Given the description of an element on the screen output the (x, y) to click on. 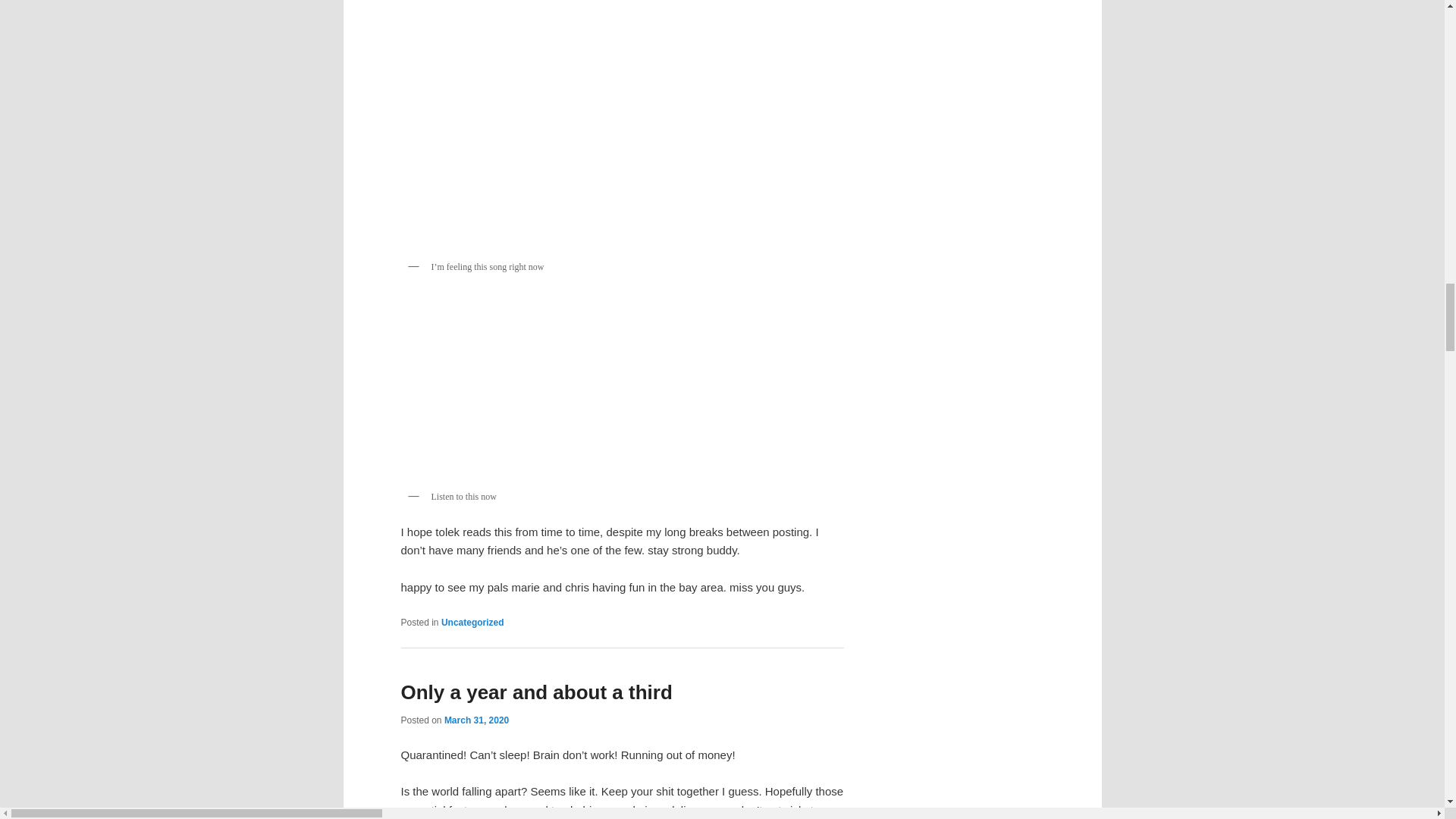
Uncategorized (472, 622)
6:06 pm (476, 719)
Spotify Embed: Pretending to be People (621, 388)
Only a year and about a third (535, 691)
March 31, 2020 (476, 719)
